Given the description of an element on the screen output the (x, y) to click on. 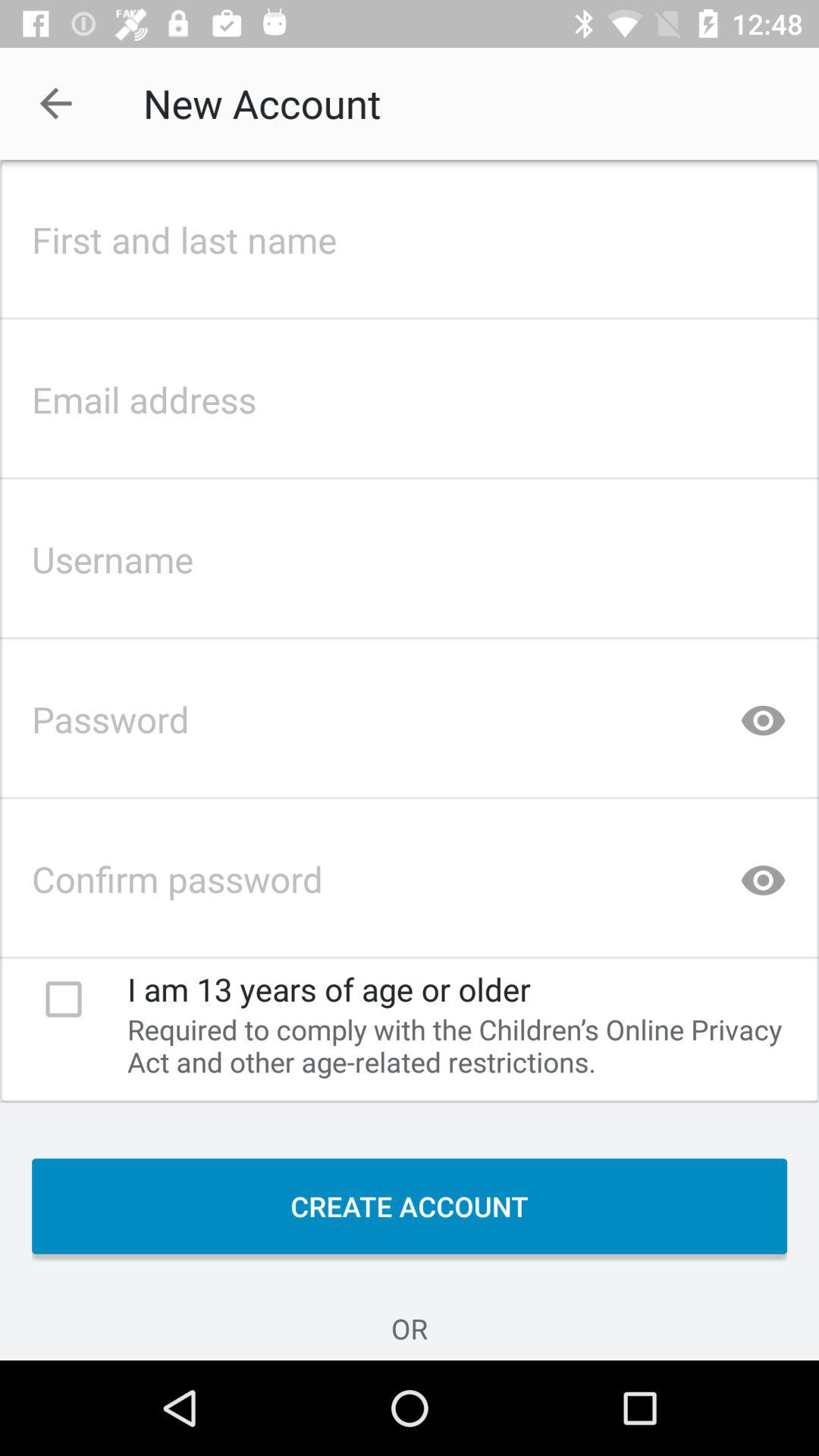
make password confirmation visible (763, 874)
